Given the description of an element on the screen output the (x, y) to click on. 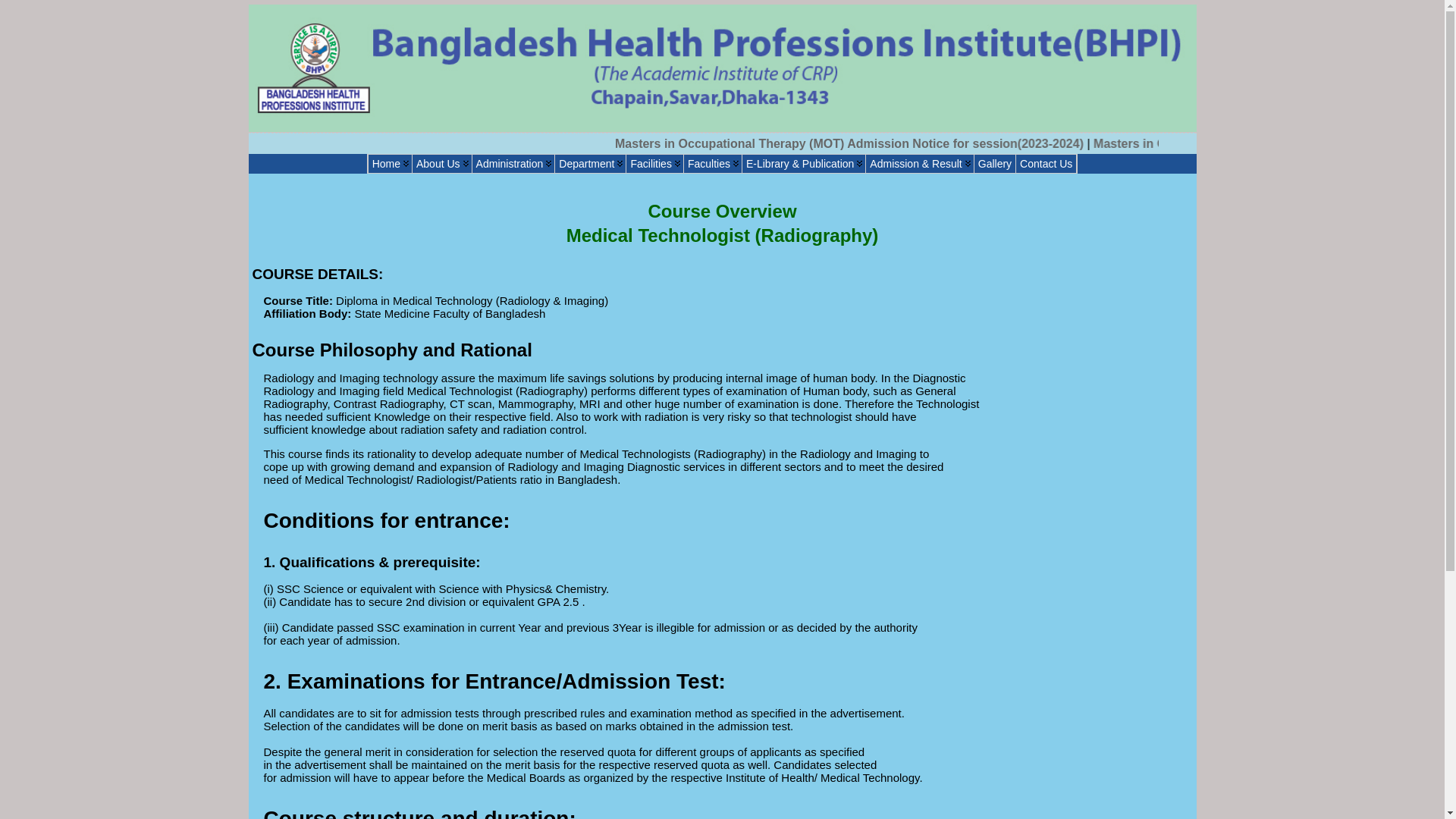
Home Element type: text (389, 163)
About Us Element type: text (441, 163)
Gallery Element type: text (994, 163)
Faculties Element type: text (712, 163)
Facilities Element type: text (654, 163)
Administration Element type: text (513, 163)
E-Library & Publication Element type: text (803, 163)
Department Element type: text (590, 163)
Contact Us Element type: text (1045, 163)
Admission & Result Element type: text (919, 163)
